Given the description of an element on the screen output the (x, y) to click on. 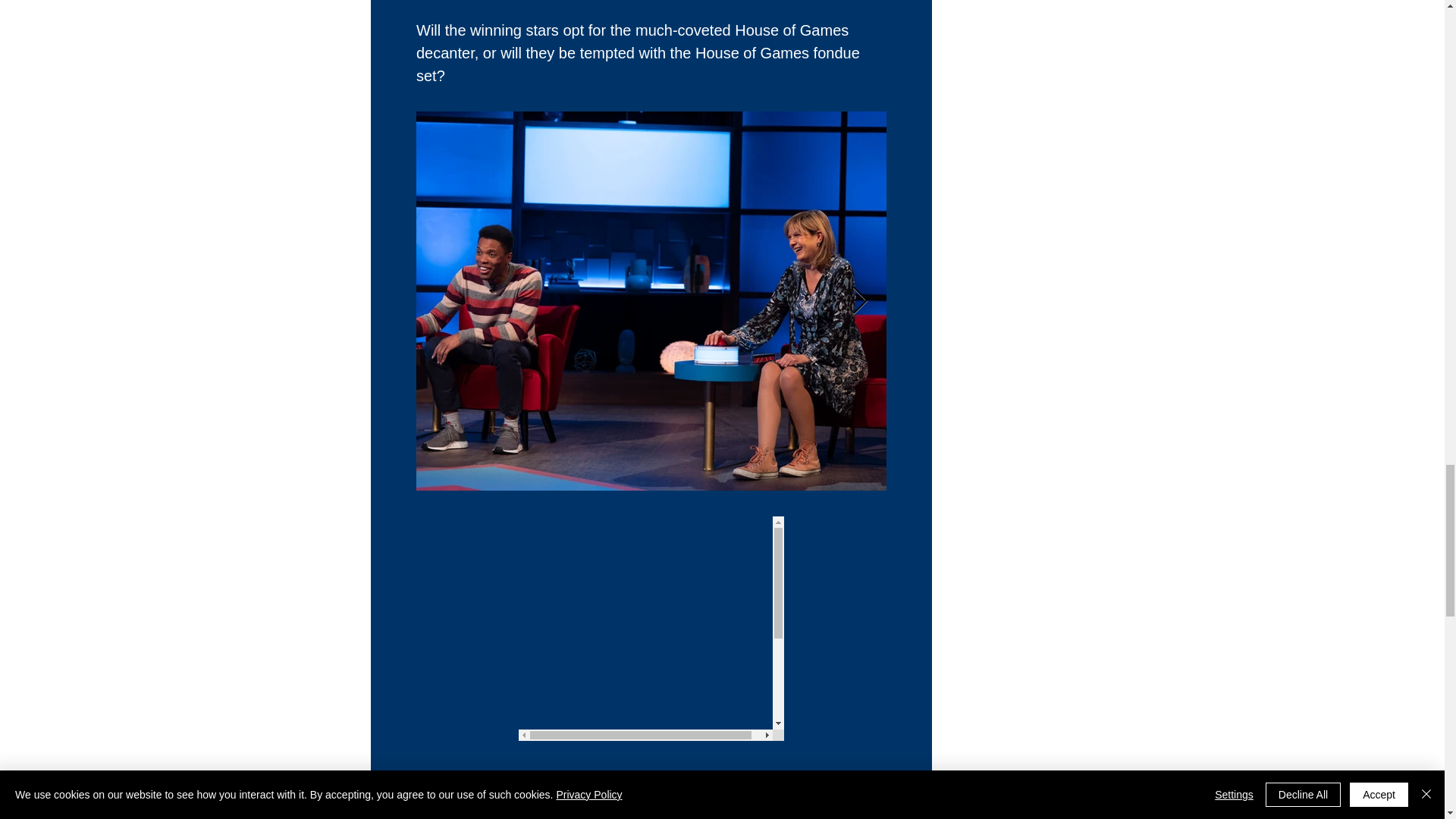
remote content (651, 628)
